Given the description of an element on the screen output the (x, y) to click on. 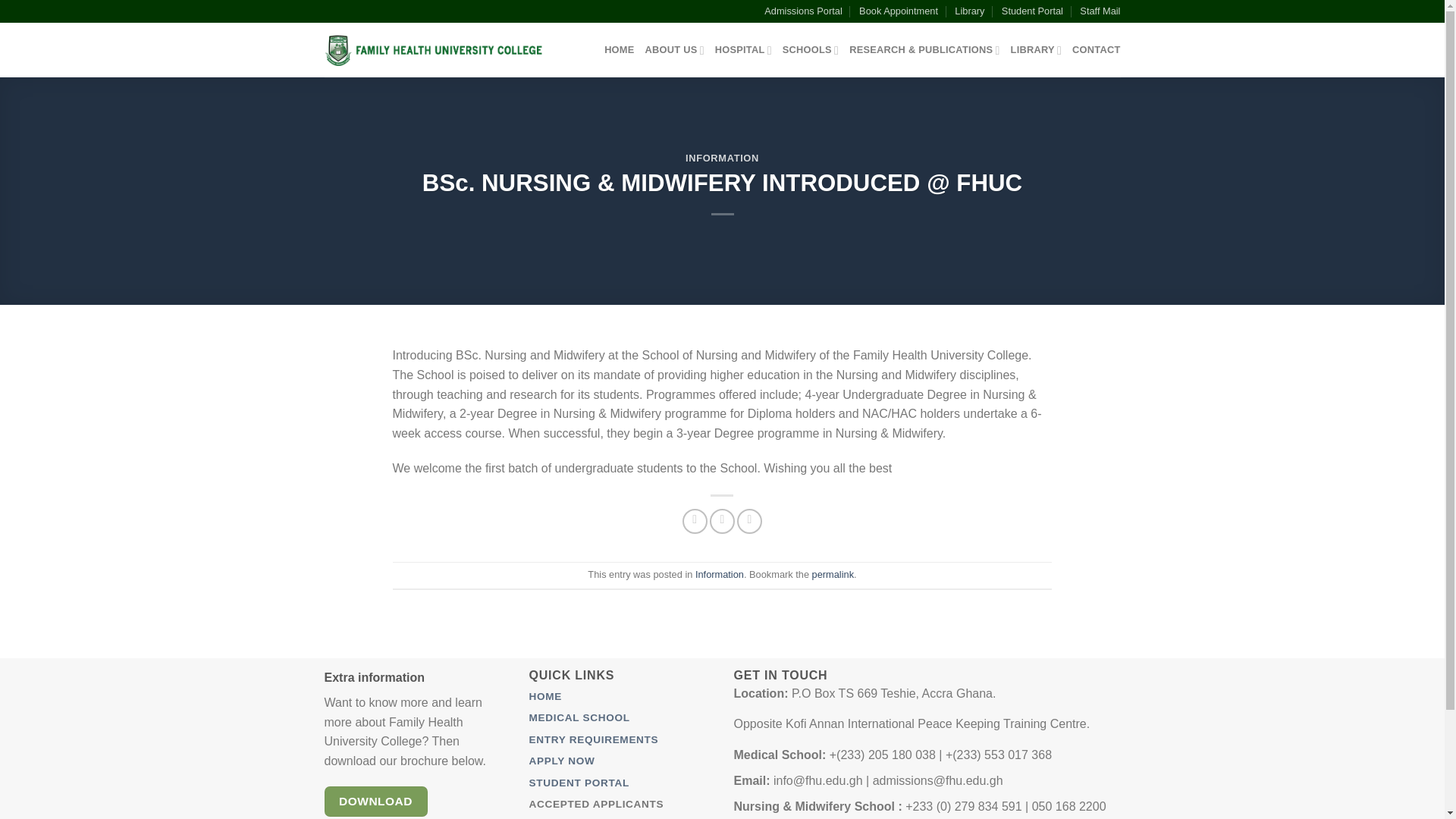
HOME (618, 50)
SCHOOLS (810, 50)
Share on Facebook (694, 520)
LIBRARY (1036, 50)
Book Appointment (898, 11)
Share on Twitter (722, 520)
Email to a Friend (748, 520)
Library (969, 11)
HOSPITAL (742, 50)
